Given the description of an element on the screen output the (x, y) to click on. 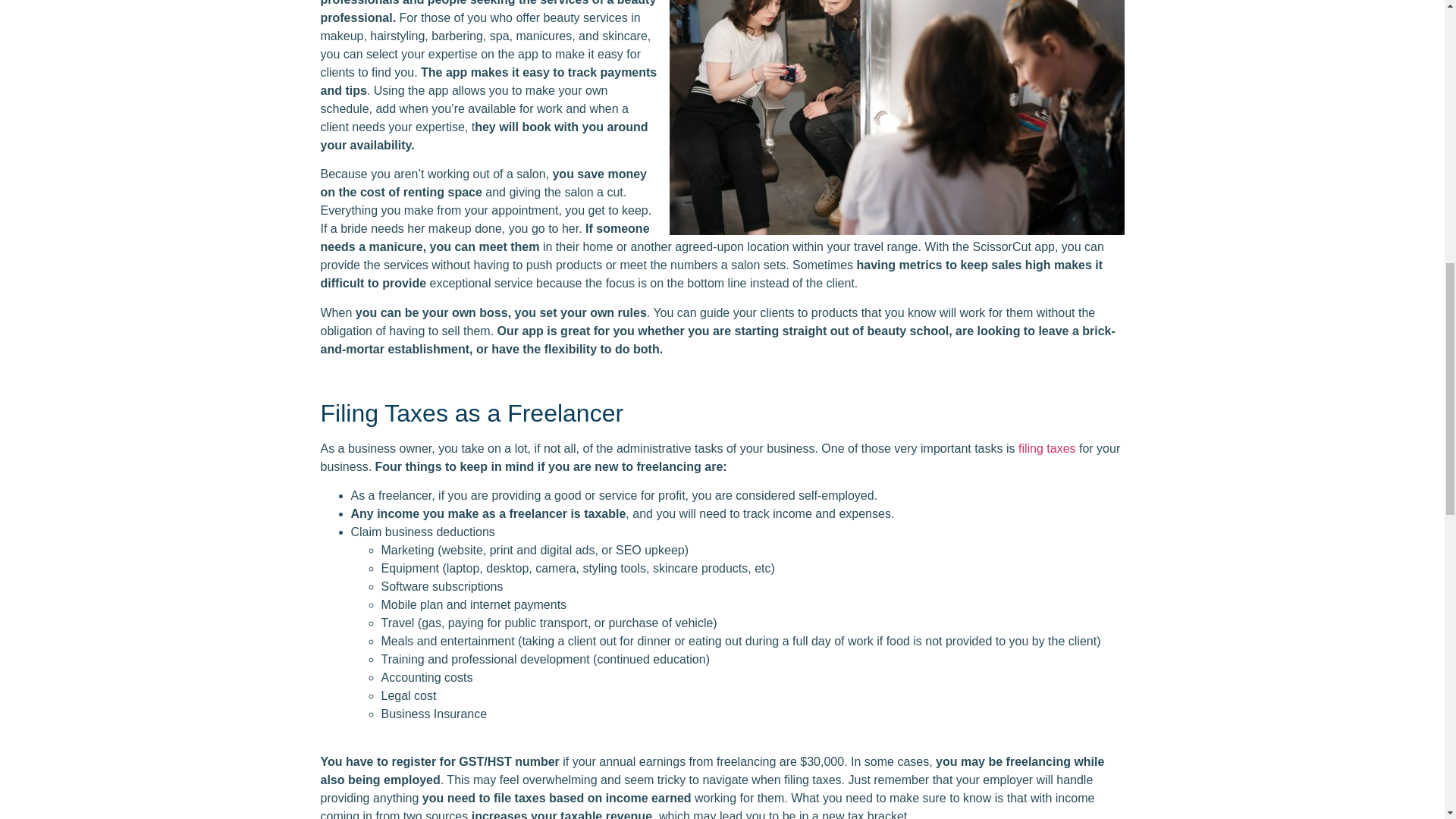
filing taxes (1046, 448)
